Given the description of an element on the screen output the (x, y) to click on. 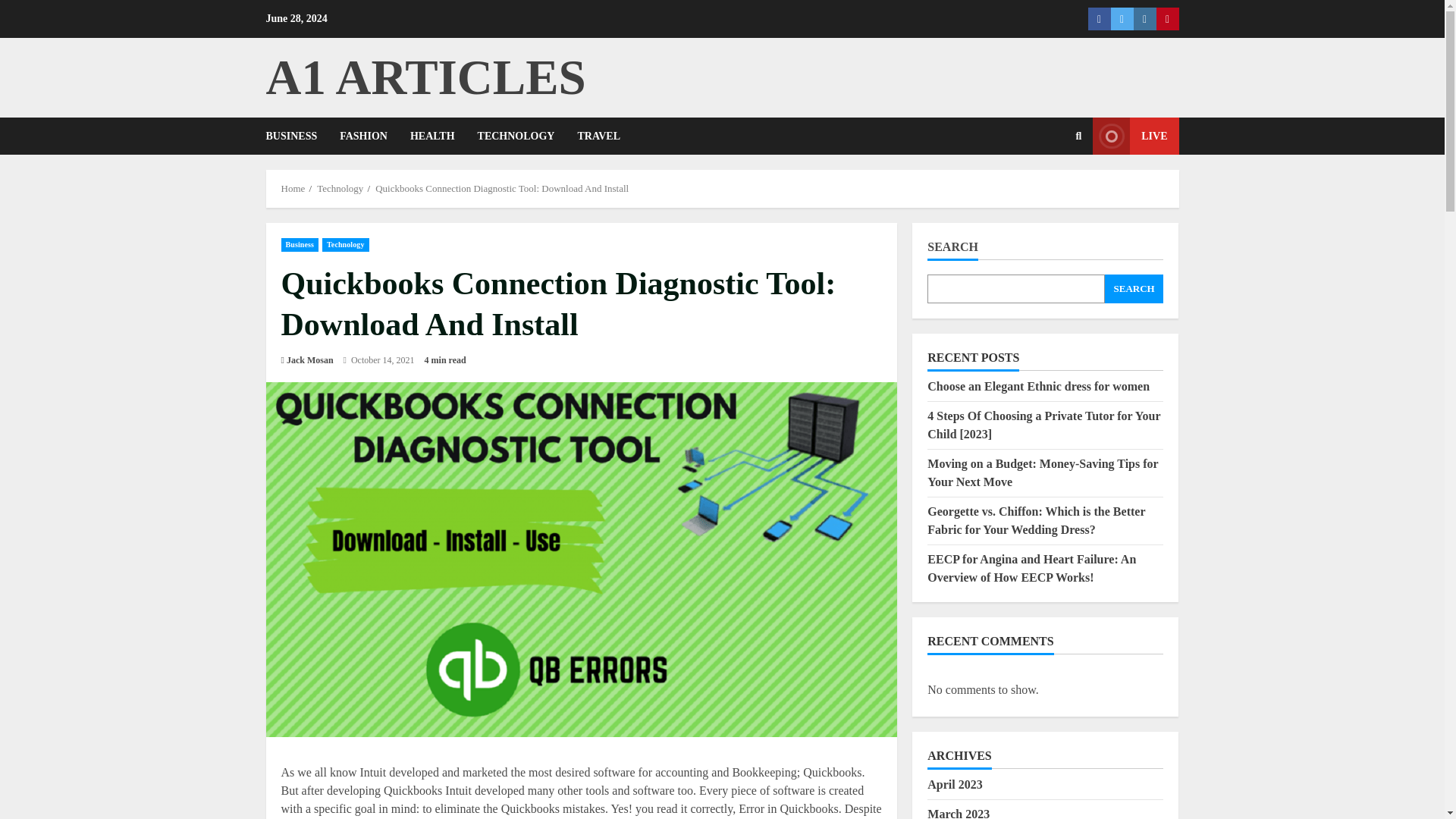
Technology (339, 188)
TRAVEL (598, 135)
Jack Mosan (309, 359)
Business (299, 244)
HEALTH (431, 135)
FASHION (363, 135)
BUSINESS (296, 135)
Technology (345, 244)
Quickbooks Connection Diagnostic Tool: Download And Install (501, 188)
LIVE (1135, 135)
A1 ARTICLES (424, 76)
Facebook (1098, 18)
Home (292, 188)
Search (1042, 187)
Instagram (1144, 18)
